Given the description of an element on the screen output the (x, y) to click on. 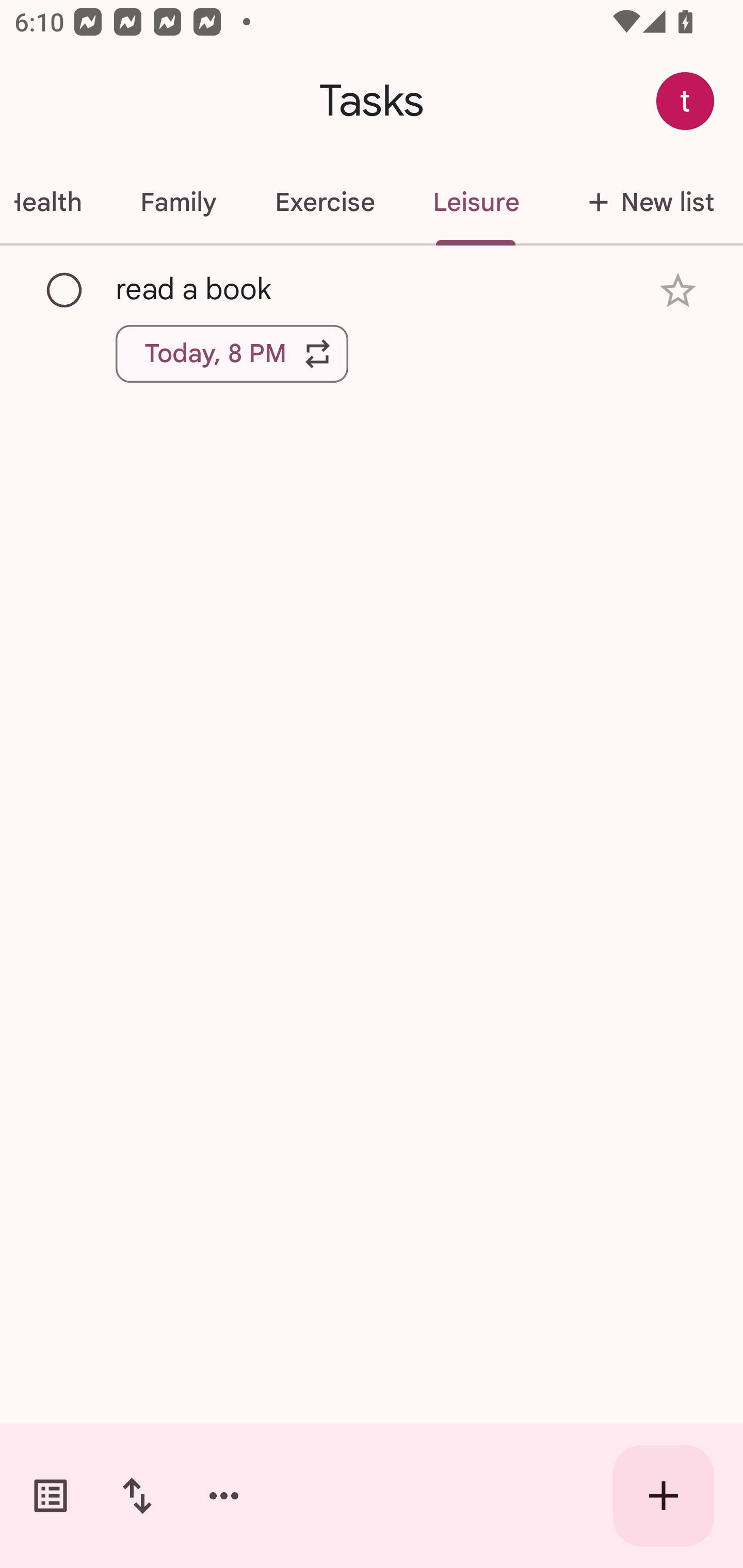
Health (55, 202)
Family (177, 202)
Exercise (324, 202)
New list (645, 202)
Add star (677, 290)
Mark as complete (64, 290)
Today, 8 PM (231, 353)
Switch task lists (50, 1495)
Create new task (663, 1495)
Change sort order (136, 1495)
More options (223, 1495)
